Given the description of an element on the screen output the (x, y) to click on. 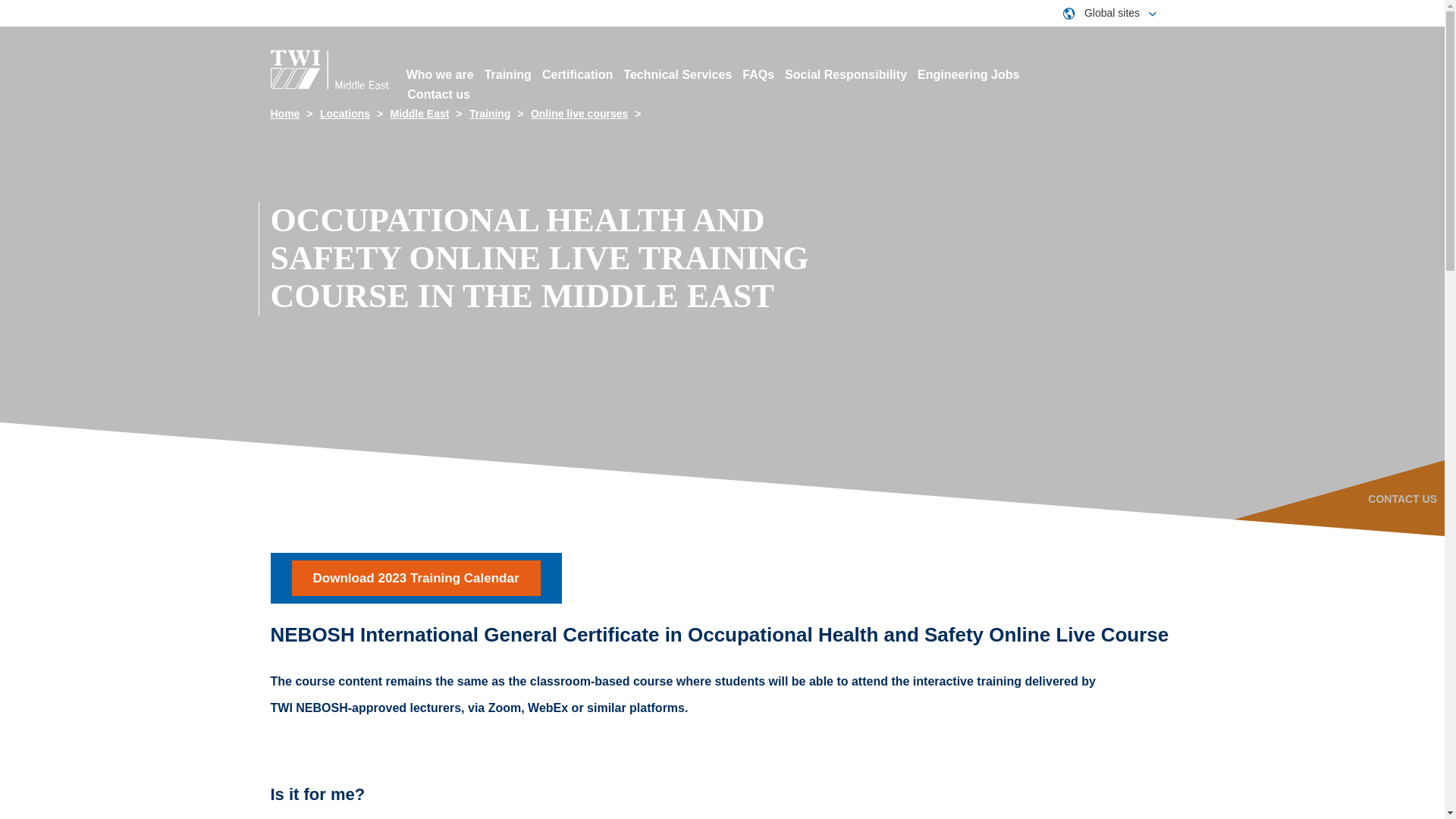
Who we are (440, 74)
Global sites (1109, 12)
Training (507, 74)
Certification (576, 74)
